Given the description of an element on the screen output the (x, y) to click on. 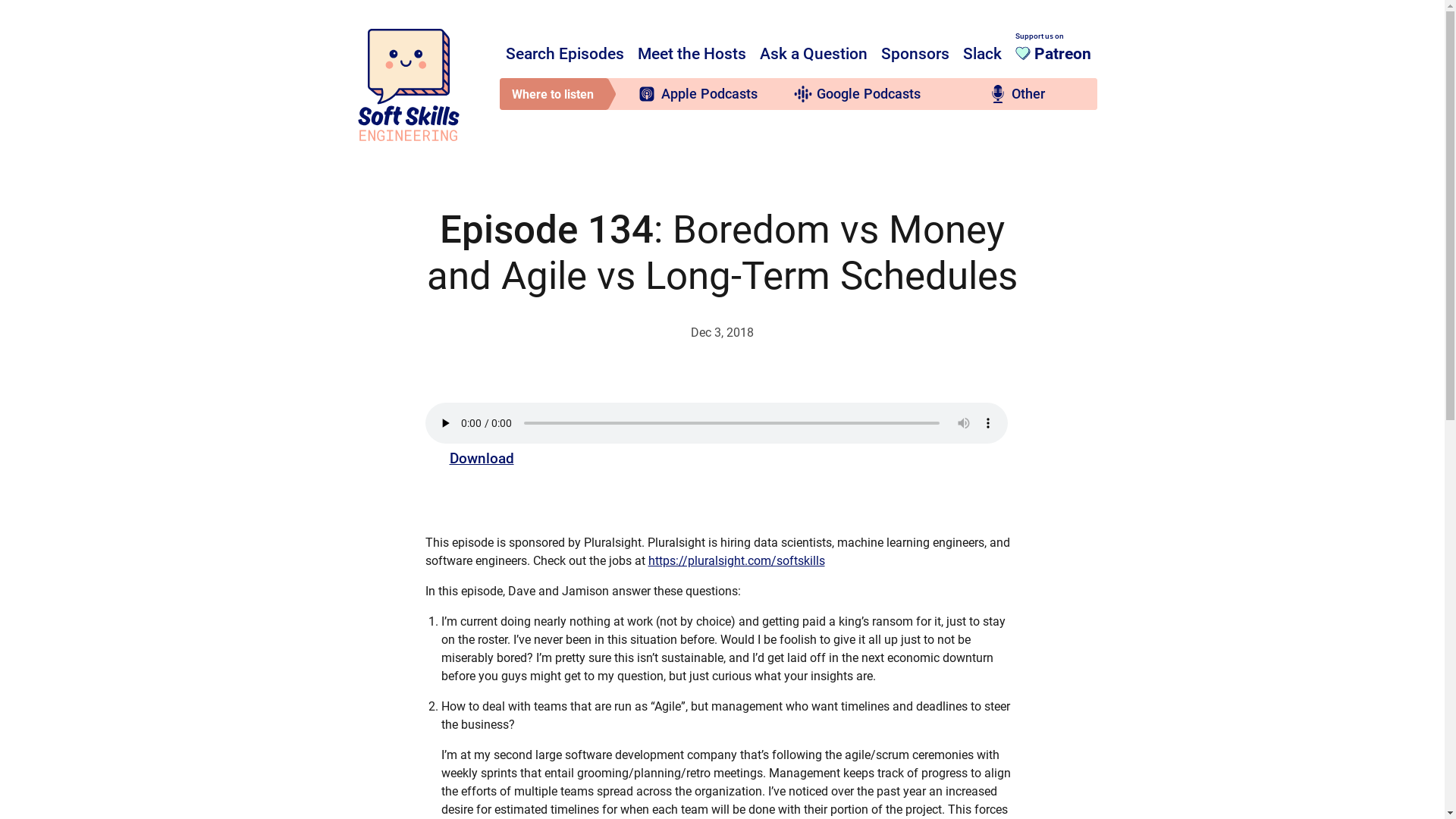
Meet the Hosts Element type: text (690, 53)
Ask a Question Element type: text (813, 53)
Support us on
Patreon Element type: text (1052, 47)
Slack Element type: text (982, 53)
https://pluralsight.com/softskills Element type: text (735, 560)
Search Episodes Element type: text (563, 53)
Google
Podcasts Element type: text (857, 93)
Apple
Podcasts Element type: text (697, 93)
Download Element type: text (480, 458)
Other Element type: text (1017, 93)
Sponsors Element type: text (915, 53)
